Given the description of an element on the screen output the (x, y) to click on. 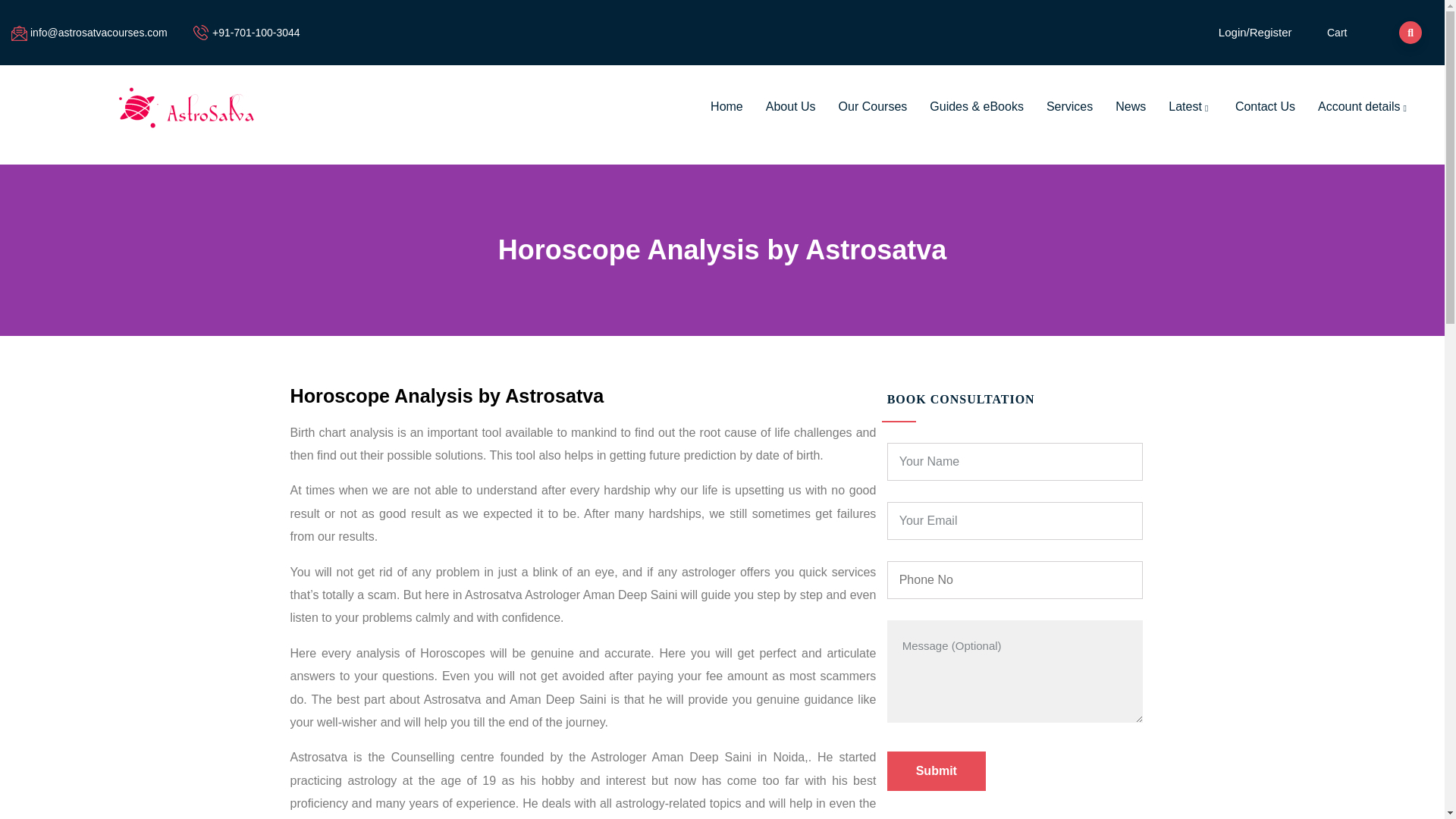
Contact Us (1265, 106)
Services (1069, 106)
Submit (935, 771)
Account details (1364, 106)
Latest (1190, 106)
Cart (1336, 32)
About Us (790, 106)
News (1130, 106)
Home (726, 106)
Our Courses (872, 106)
